Given the description of an element on the screen output the (x, y) to click on. 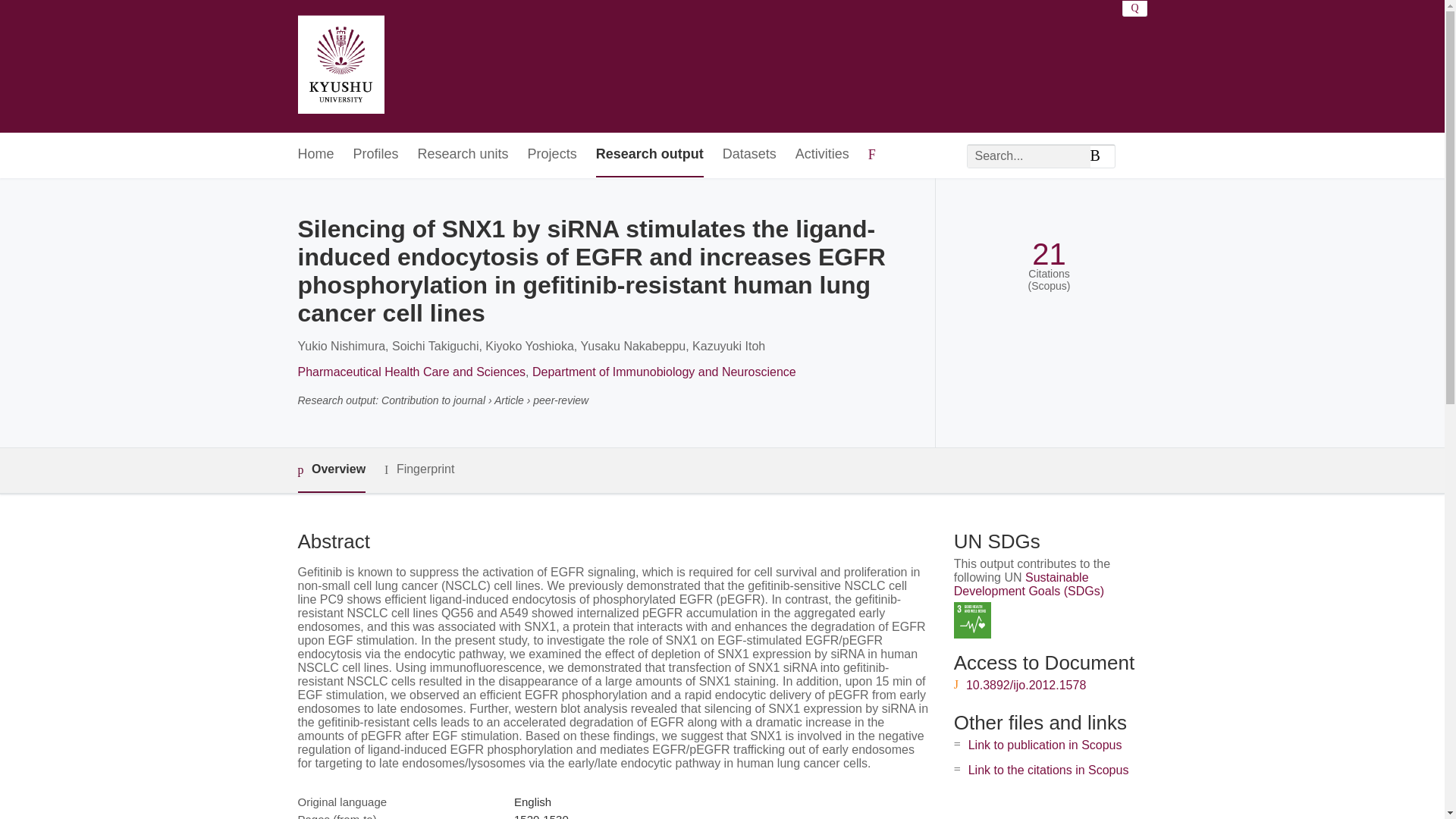
Profiles (375, 154)
Link to the citations in Scopus (1048, 769)
Overview (331, 470)
Link to publication in Scopus (1045, 744)
Research output (649, 154)
Datasets (749, 154)
SDG 3 - Good Health and Well-being (972, 620)
Projects (551, 154)
Department of Immunobiology and Neuroscience (664, 371)
